Given the description of an element on the screen output the (x, y) to click on. 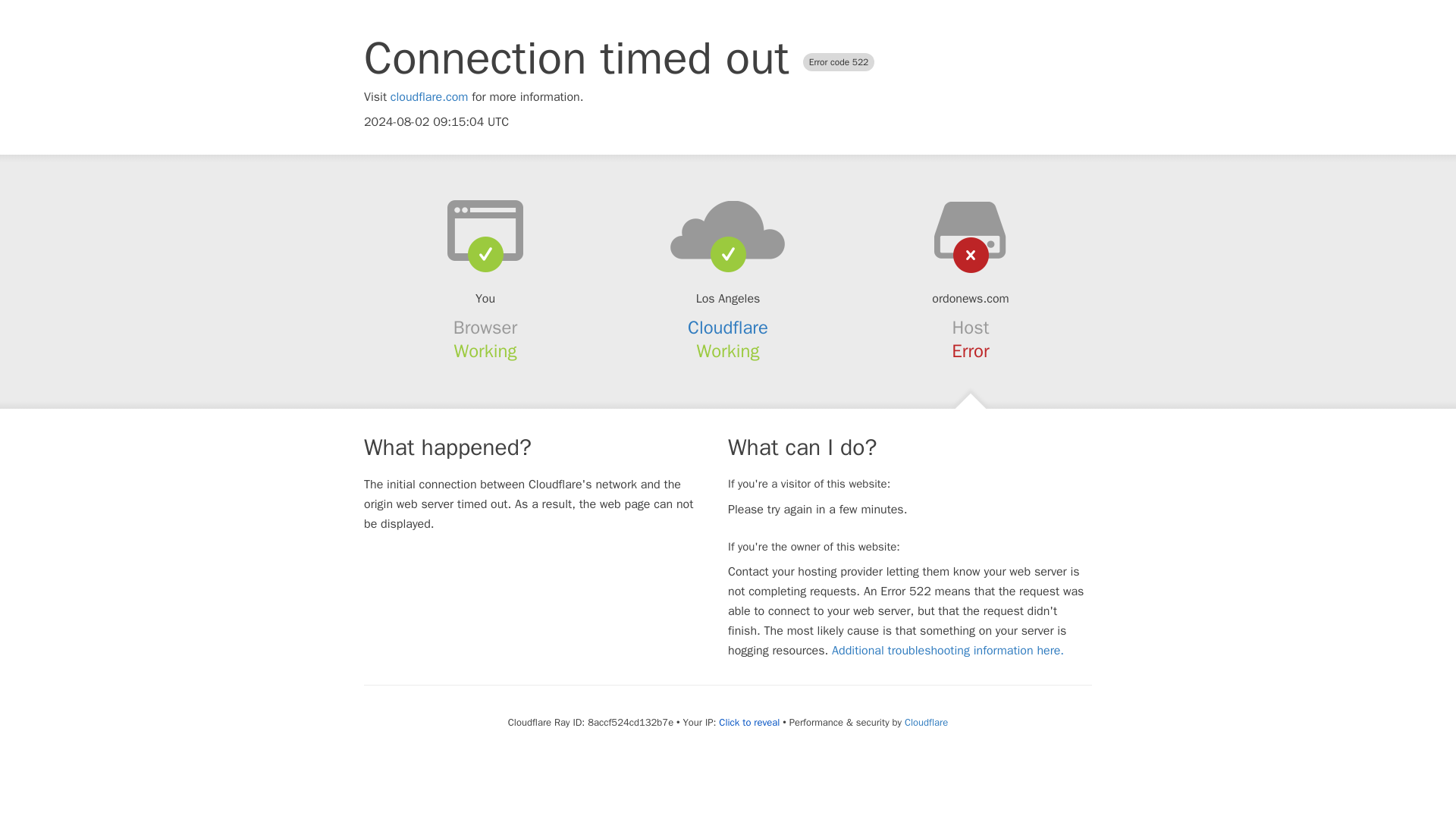
Cloudflare (727, 327)
Additional troubleshooting information here. (947, 650)
Cloudflare (925, 721)
cloudflare.com (429, 96)
Click to reveal (748, 722)
